Given the description of an element on the screen output the (x, y) to click on. 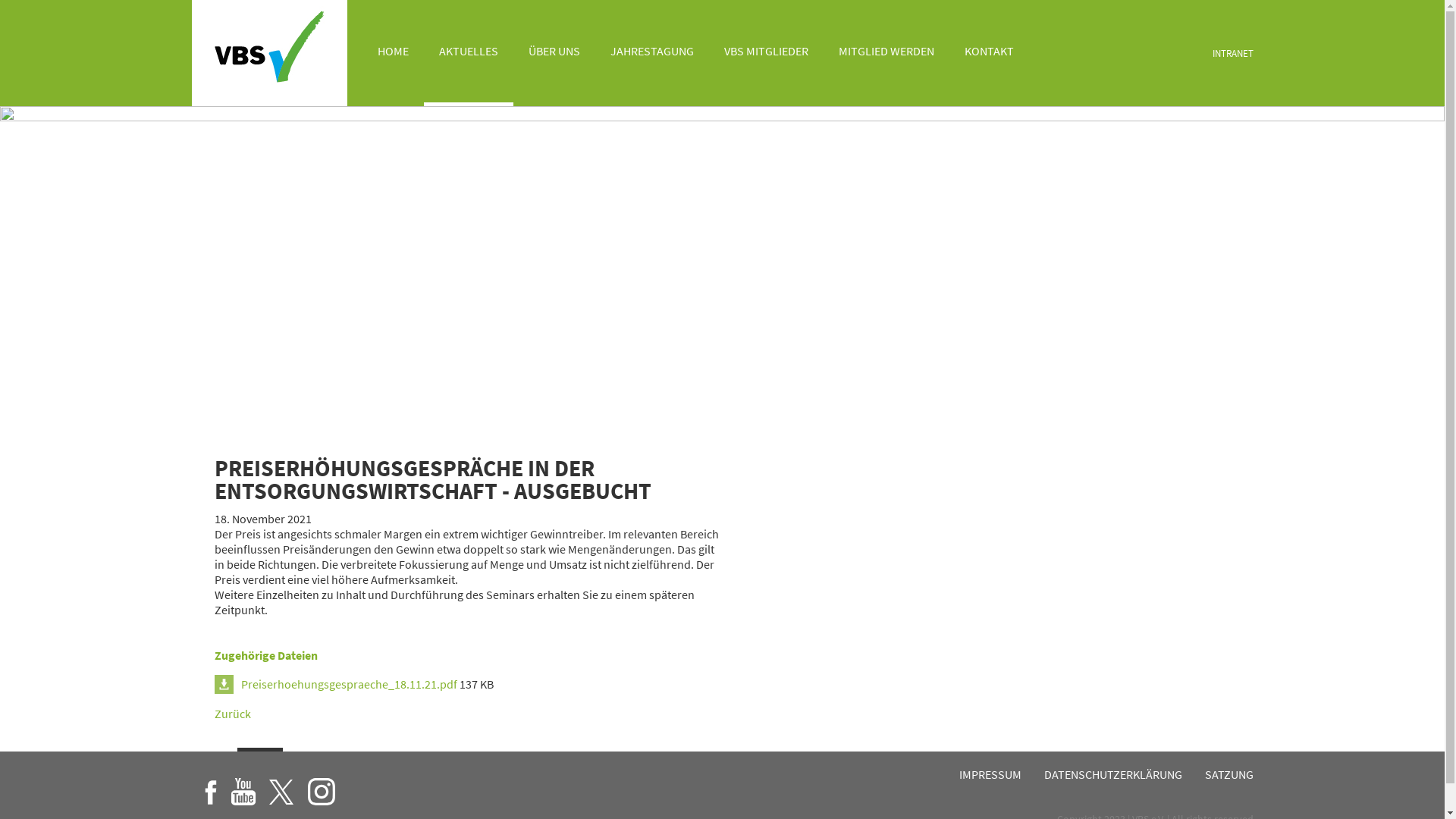
VBS Instagram Kanal Element type: hover (321, 793)
AKTUELLES Element type: text (467, 53)
VBS Facebook Kanal Element type: hover (210, 793)
JAHRESTAGUNG Element type: text (651, 53)
IMPRESSUM Element type: text (989, 773)
MITGLIED WERDEN Element type: text (886, 53)
VBS MITGLIEDER Element type: text (765, 53)
KONTAKT Element type: text (989, 53)
VBS YouTube Kanal Element type: hover (242, 793)
SATZUNG Element type: text (1228, 773)
INTRANET Element type: text (1231, 53)
VBS Twitter (X) Kanal Element type: hover (281, 793)
HOME Element type: text (392, 53)
Preiserhoehungsgespraeche_18.11.21.pdf Element type: text (334, 683)
